Given the description of an element on the screen output the (x, y) to click on. 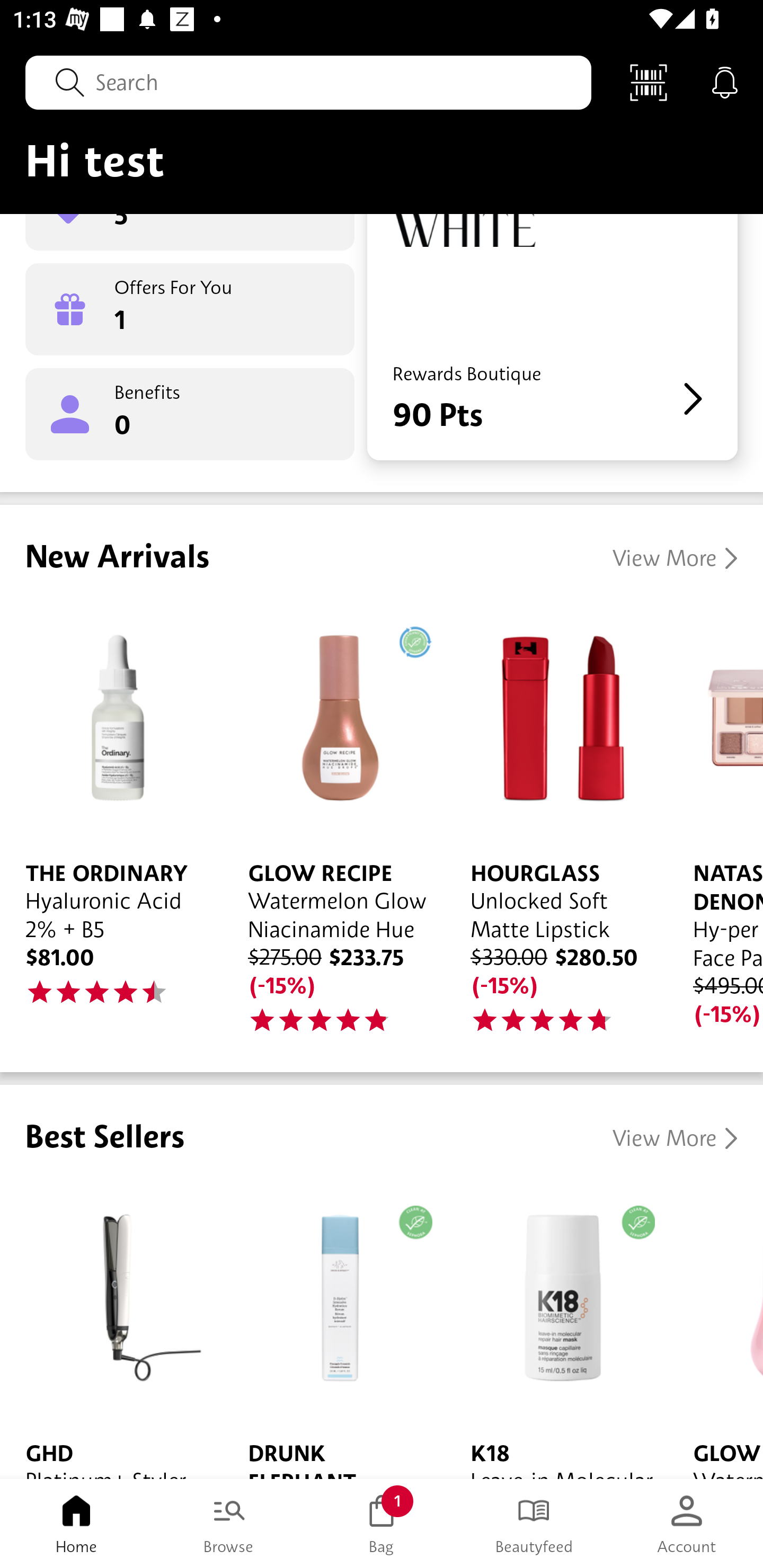
Scan Code (648, 81)
Notifications (724, 81)
Search (308, 81)
Rewards Boutique 90 Pts (552, 336)
Offers For You 1 (189, 309)
Benefits 0 (189, 414)
View More (674, 558)
THE ORDINARY Hyaluronic Acid 2% + B5 $81.00 45.0 (111, 817)
View More (674, 1138)
GHD Platinum+ Styler (111, 1330)
DRUNK ELEPHANT (333, 1330)
K18 Leave-in Molecular Repair Hair Mask (555, 1330)
Browse (228, 1523)
Bag 1 Bag (381, 1523)
Beautyfeed (533, 1523)
Account (686, 1523)
